Given the description of an element on the screen output the (x, y) to click on. 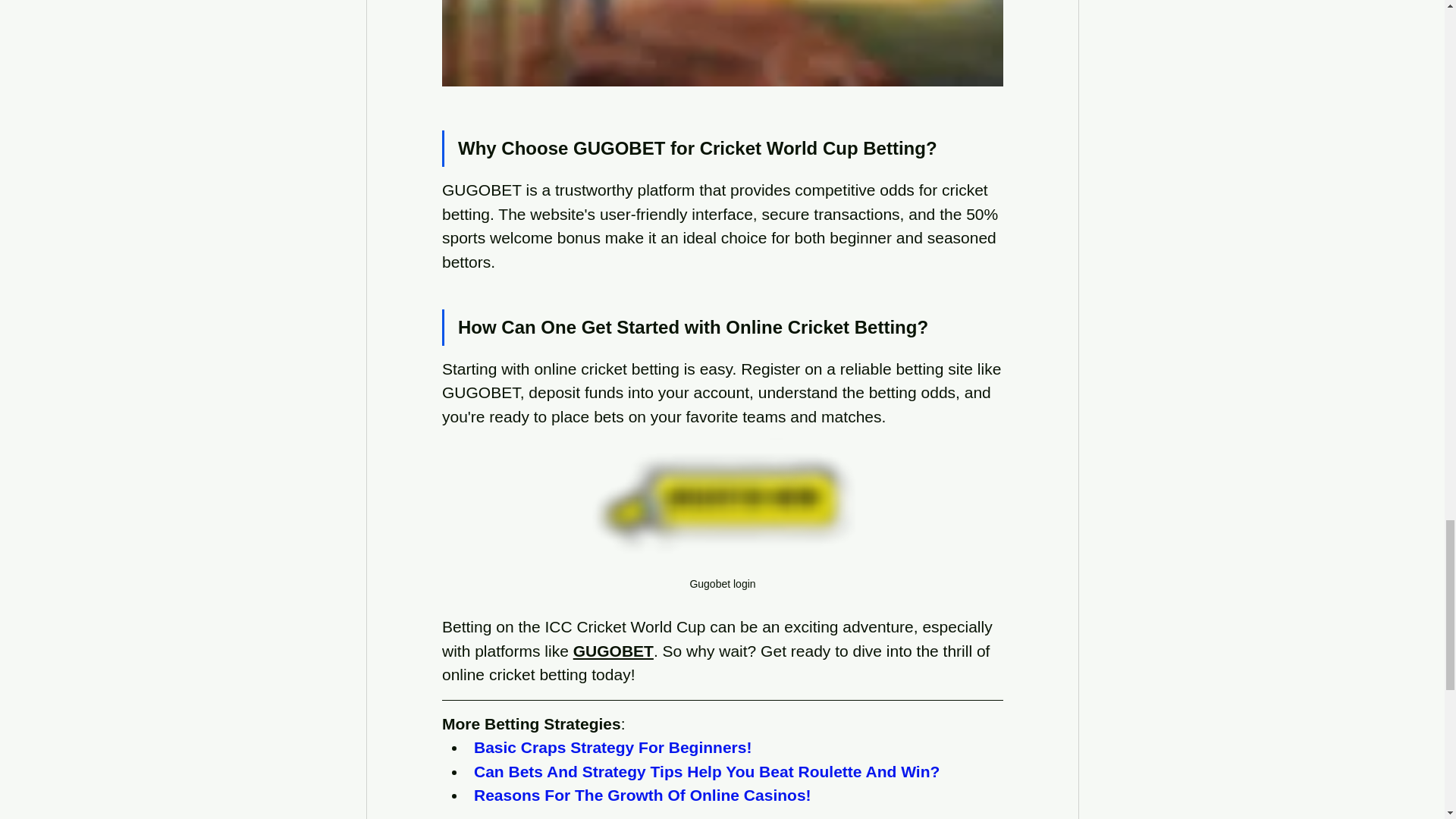
Gugobet login (722, 521)
Can Bets And Strategy Tips Help You Beat Roulette And Win? (706, 771)
Basic Craps Strategy For Beginners! (612, 746)
Reasons For The Growth Of Online Casinos! (641, 794)
GUGOBET (612, 651)
